Given the description of an element on the screen output the (x, y) to click on. 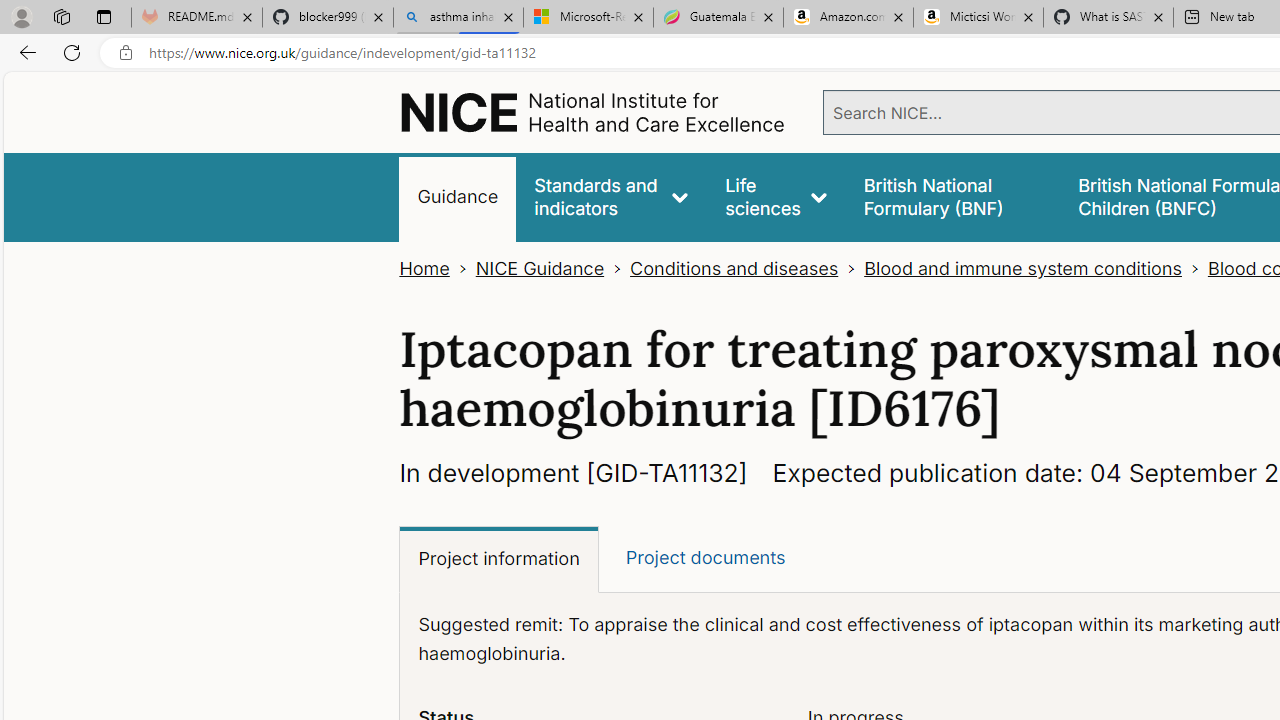
asthma inhaler - Search (458, 17)
Back (24, 52)
NICE Guidance> (552, 268)
Guidance (458, 196)
Project information (499, 560)
false (952, 196)
Blood and immune system conditions> (1036, 268)
Project documents (704, 558)
Workspaces (61, 16)
View site information (125, 53)
NICE Guidance (539, 268)
